Given the description of an element on the screen output the (x, y) to click on. 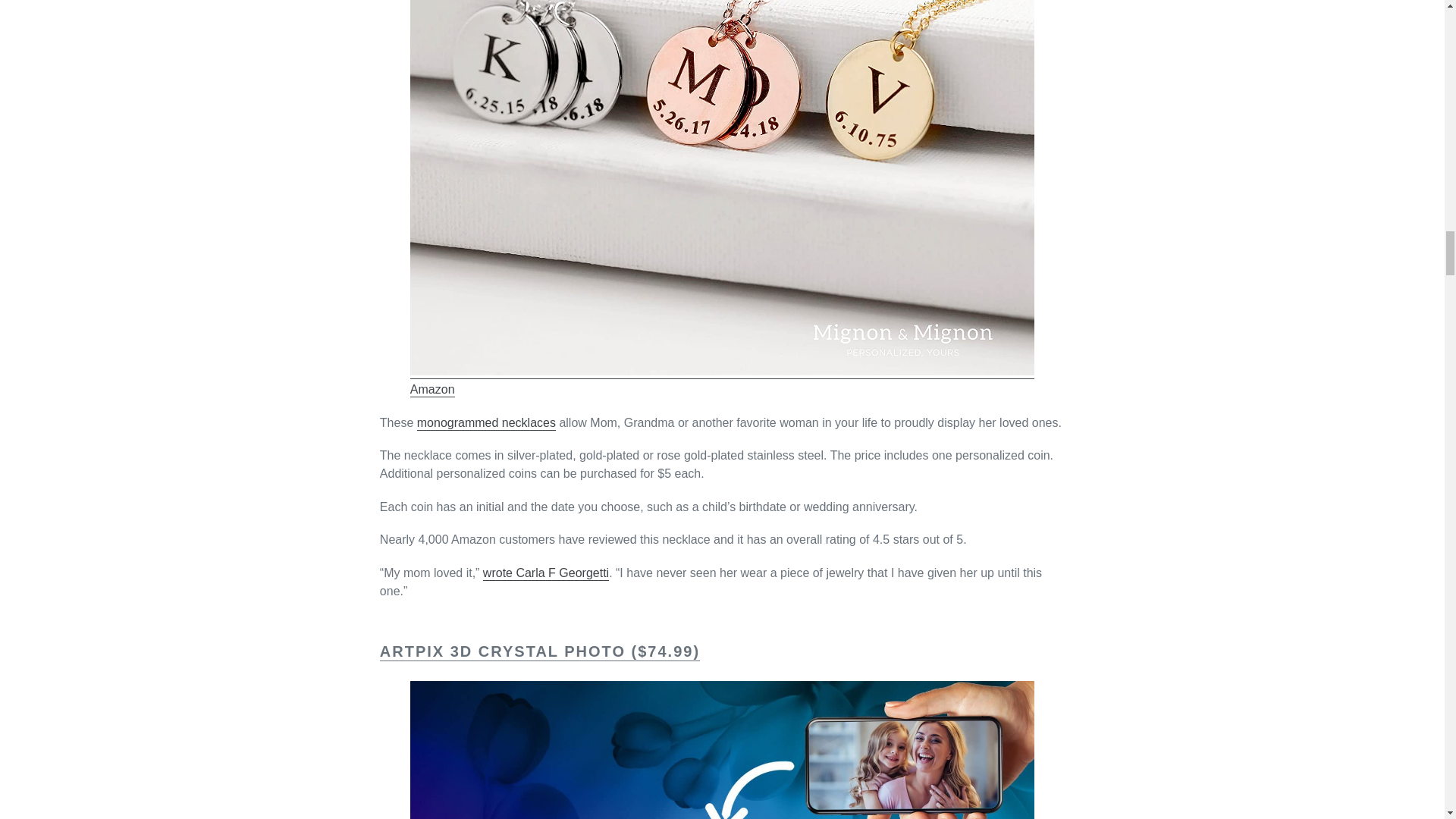
Amazon (432, 390)
